Given the description of an element on the screen output the (x, y) to click on. 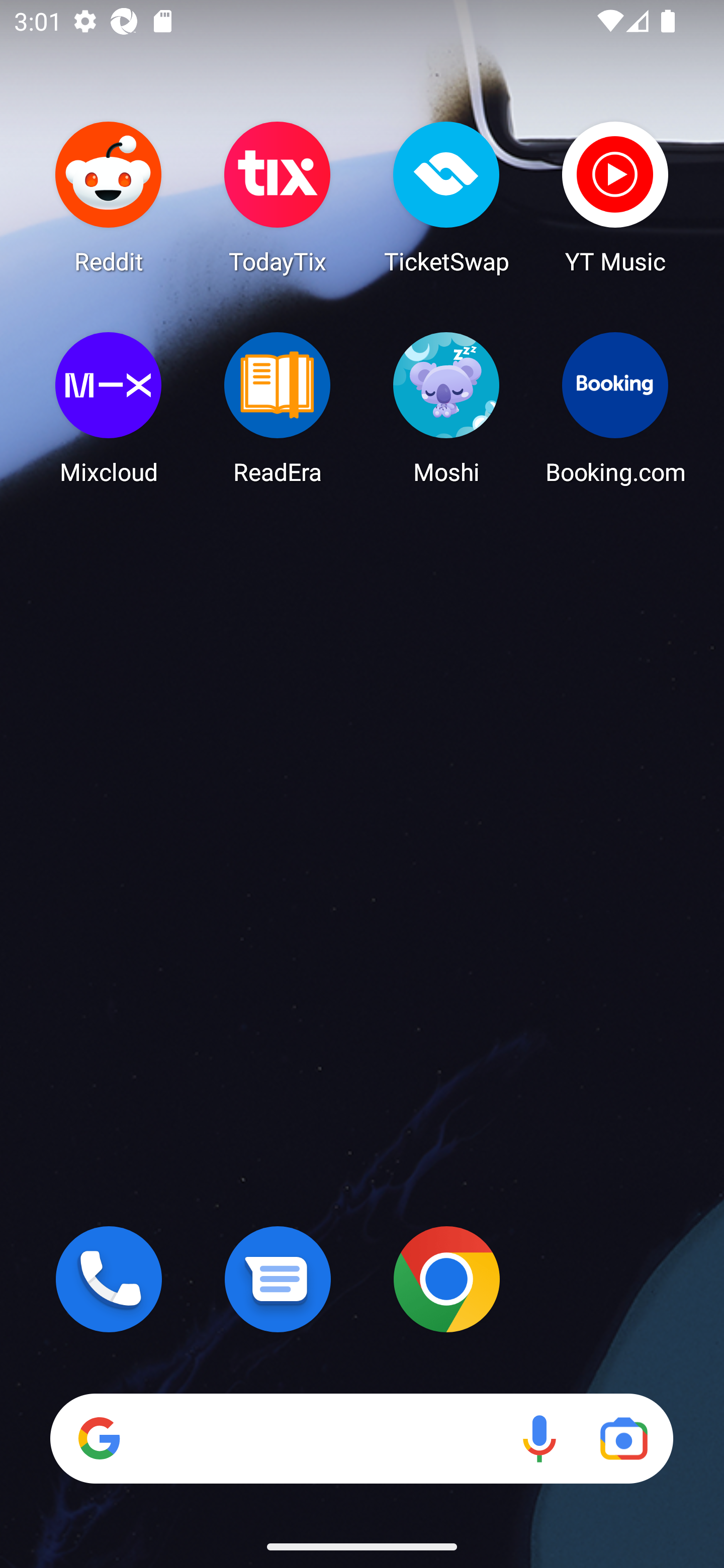
Reddit (108, 196)
TodayTix (277, 196)
TicketSwap (445, 196)
YT Music (615, 196)
Mixcloud (108, 407)
ReadEra (277, 407)
Moshi (445, 407)
Booking.com (615, 407)
Phone (108, 1279)
Messages (277, 1279)
Chrome (446, 1279)
Search Voice search Google Lens (361, 1438)
Voice search (539, 1438)
Google Lens (623, 1438)
